Given the description of an element on the screen output the (x, y) to click on. 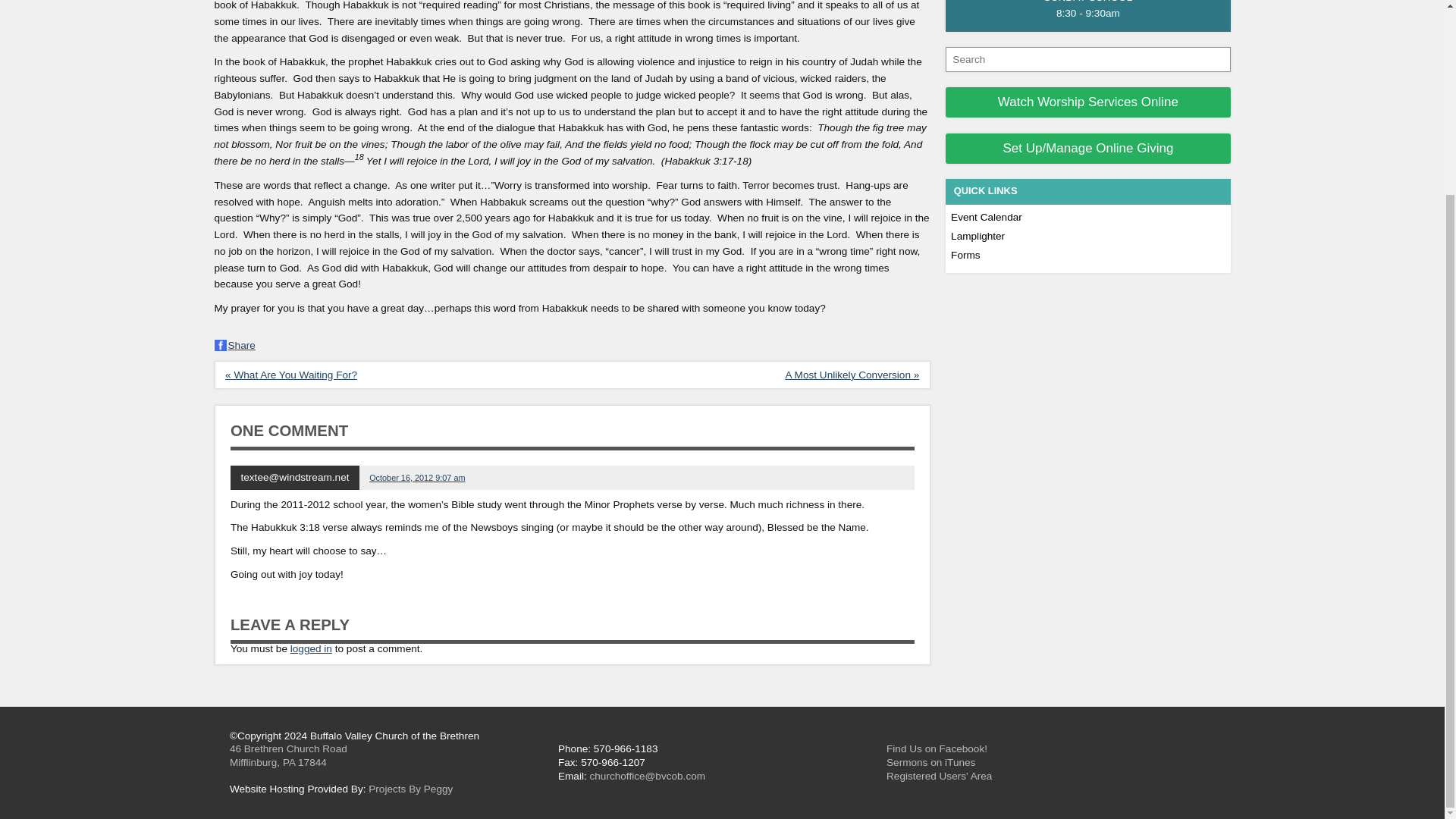
Share (234, 345)
logged in (310, 648)
Watch Worship Services Online (1087, 101)
October 16, 2012 9:07 am (416, 477)
